Given the description of an element on the screen output the (x, y) to click on. 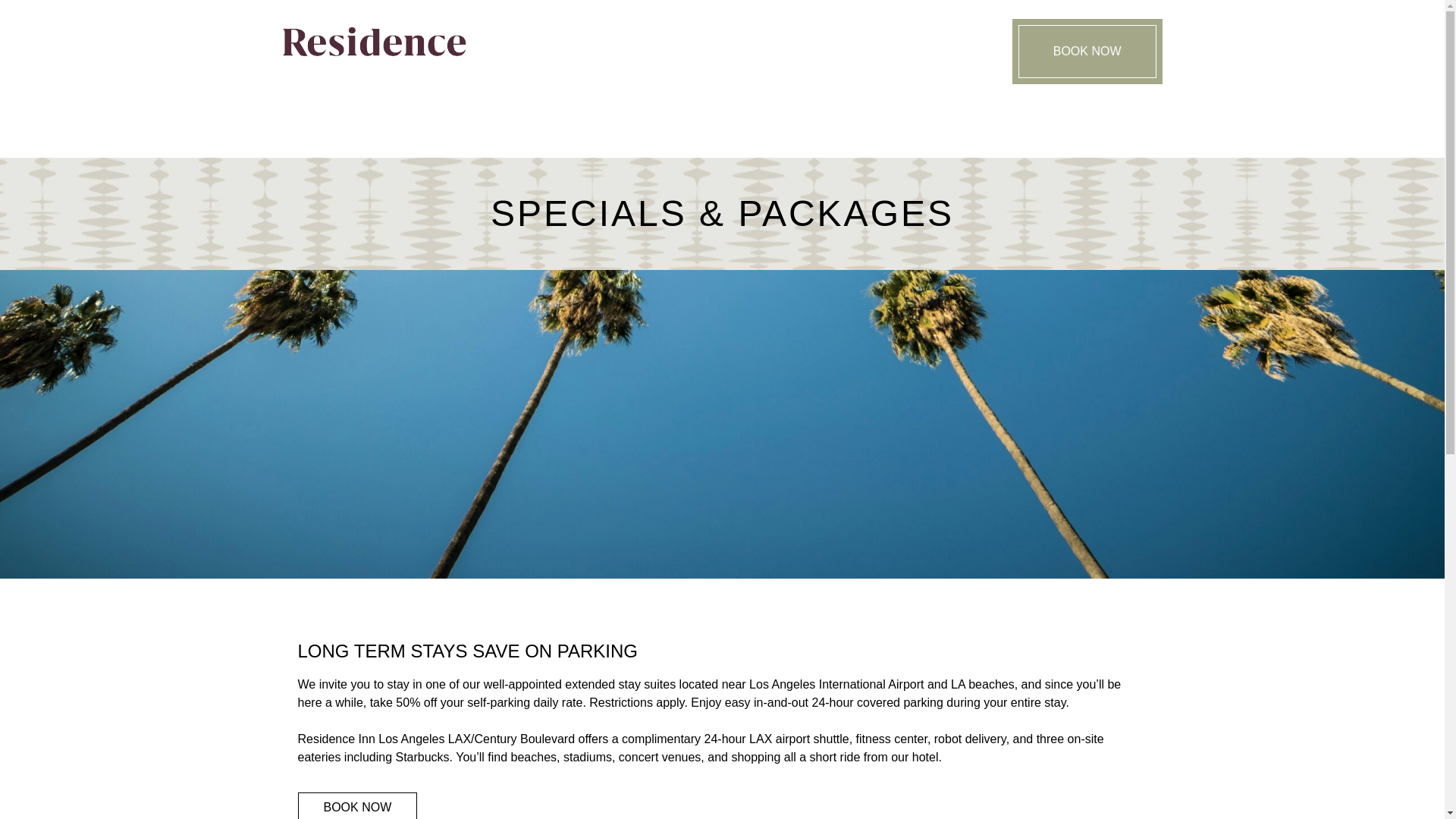
BOOK NOW (1229, 51)
ACCOMMODATIONS (625, 147)
PHOTO GALLERY (936, 142)
AMENITIES (644, 146)
LOCAL AREA (789, 143)
LOCAL EVENTS (858, 143)
PACKAGES (734, 144)
